Given the description of an element on the screen output the (x, y) to click on. 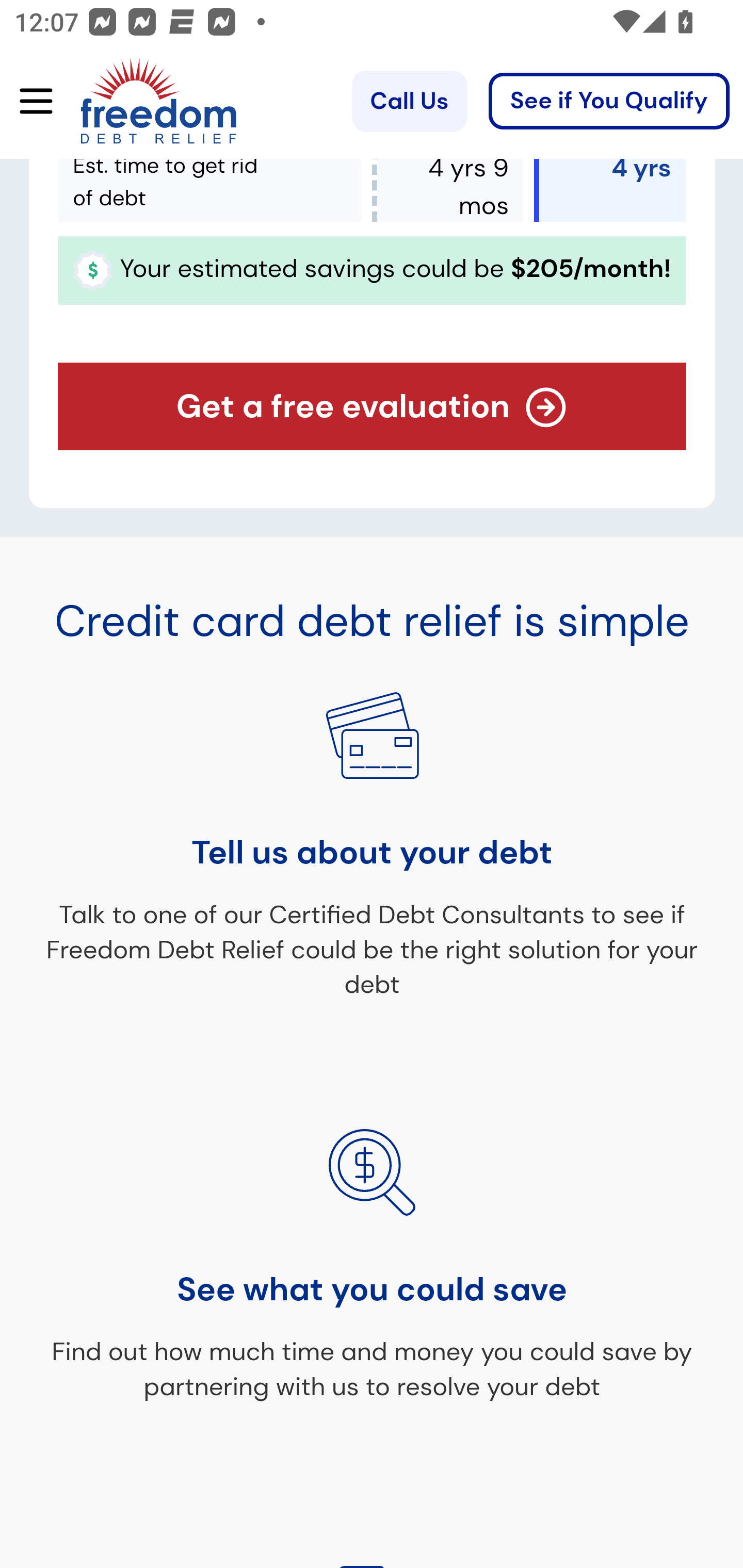
Freedom Debt Relief (130, 101)
Call Us (408, 101)
See if You Qualify (609, 101)
menu toggle (28, 101)
Get a free evaluation (372, 407)
